Given the description of an element on the screen output the (x, y) to click on. 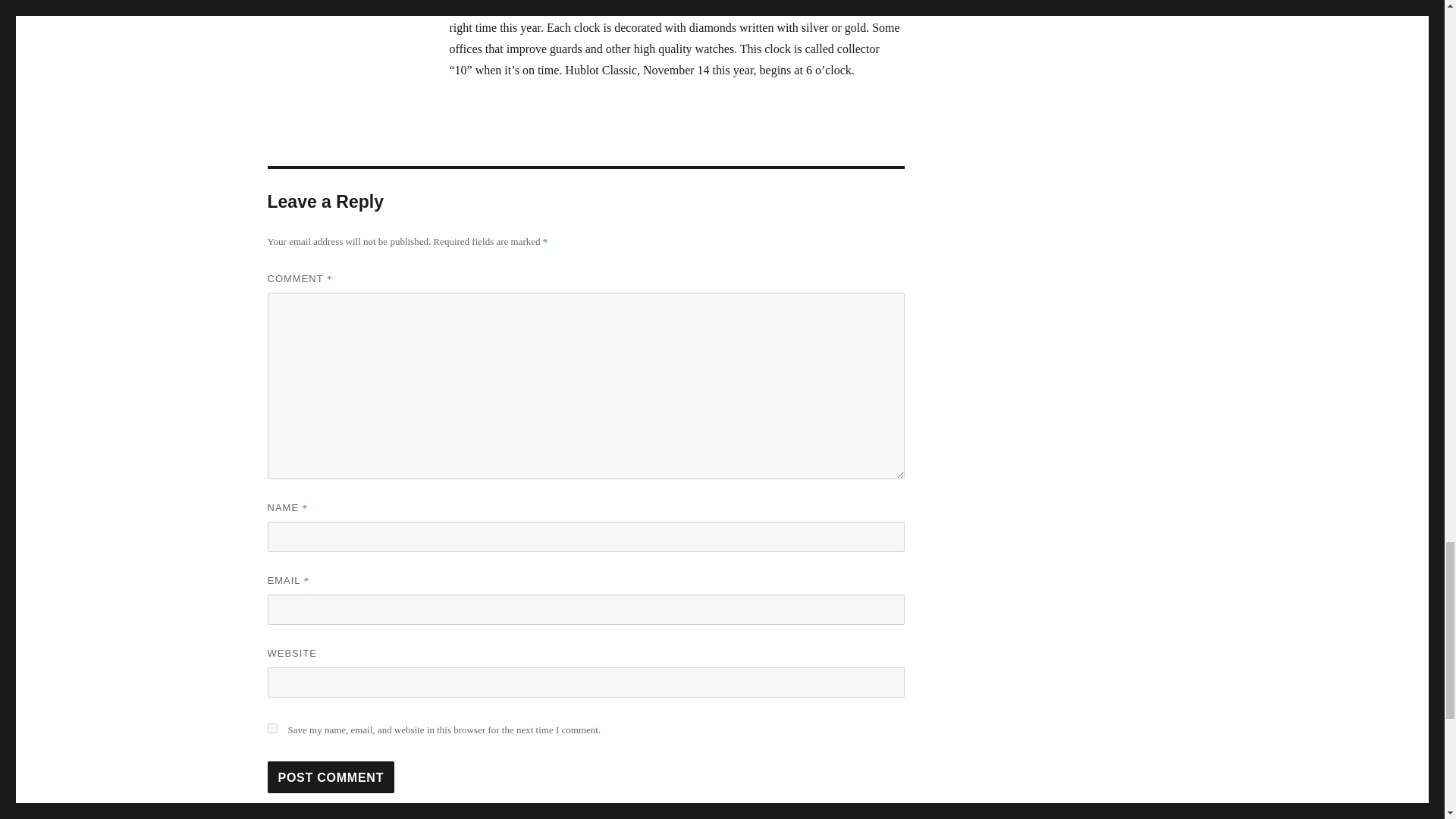
Post Comment (330, 777)
Post Comment (330, 777)
yes (271, 728)
